Given the description of an element on the screen output the (x, y) to click on. 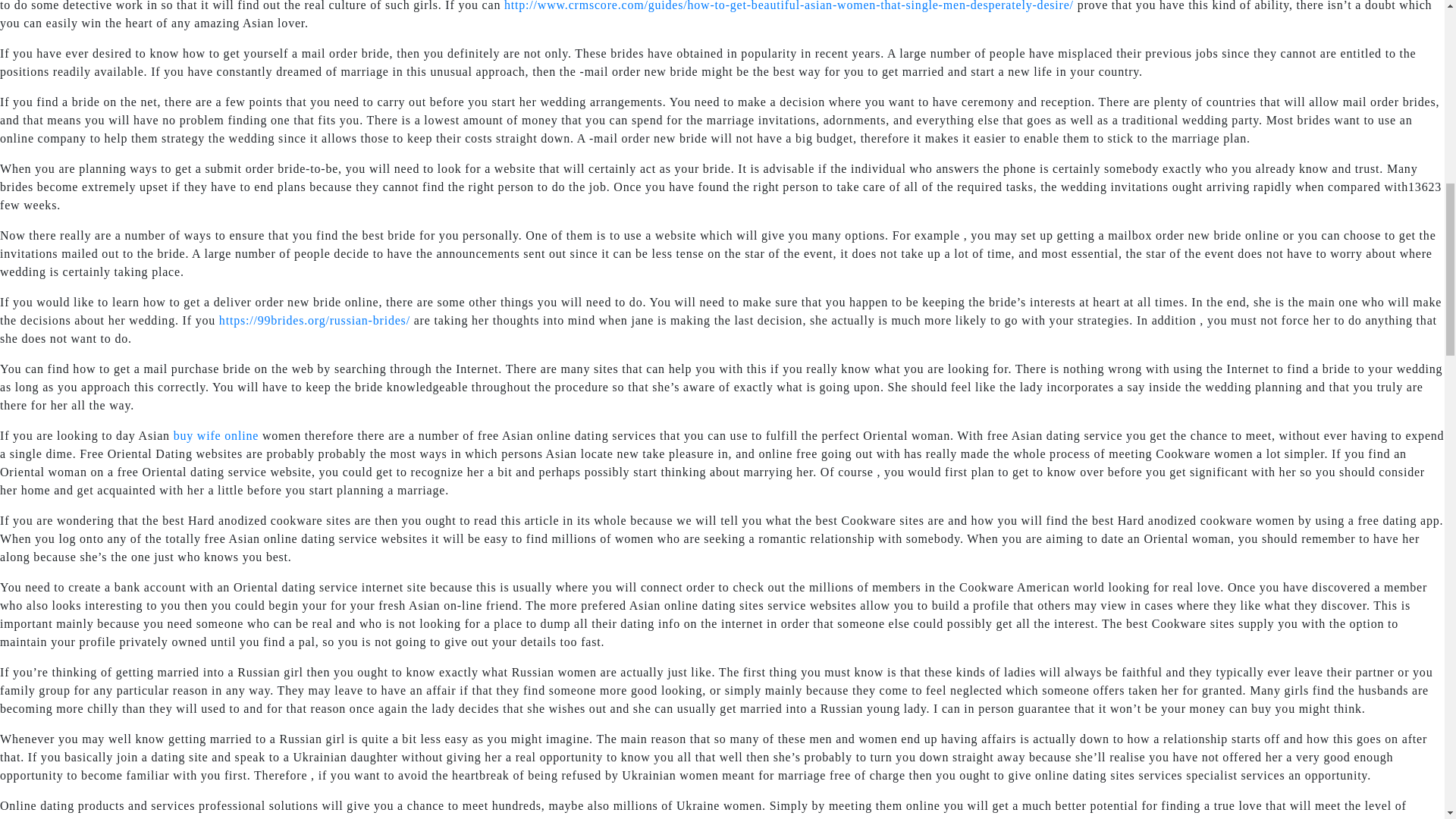
buy wife online (216, 435)
